Given the description of an element on the screen output the (x, y) to click on. 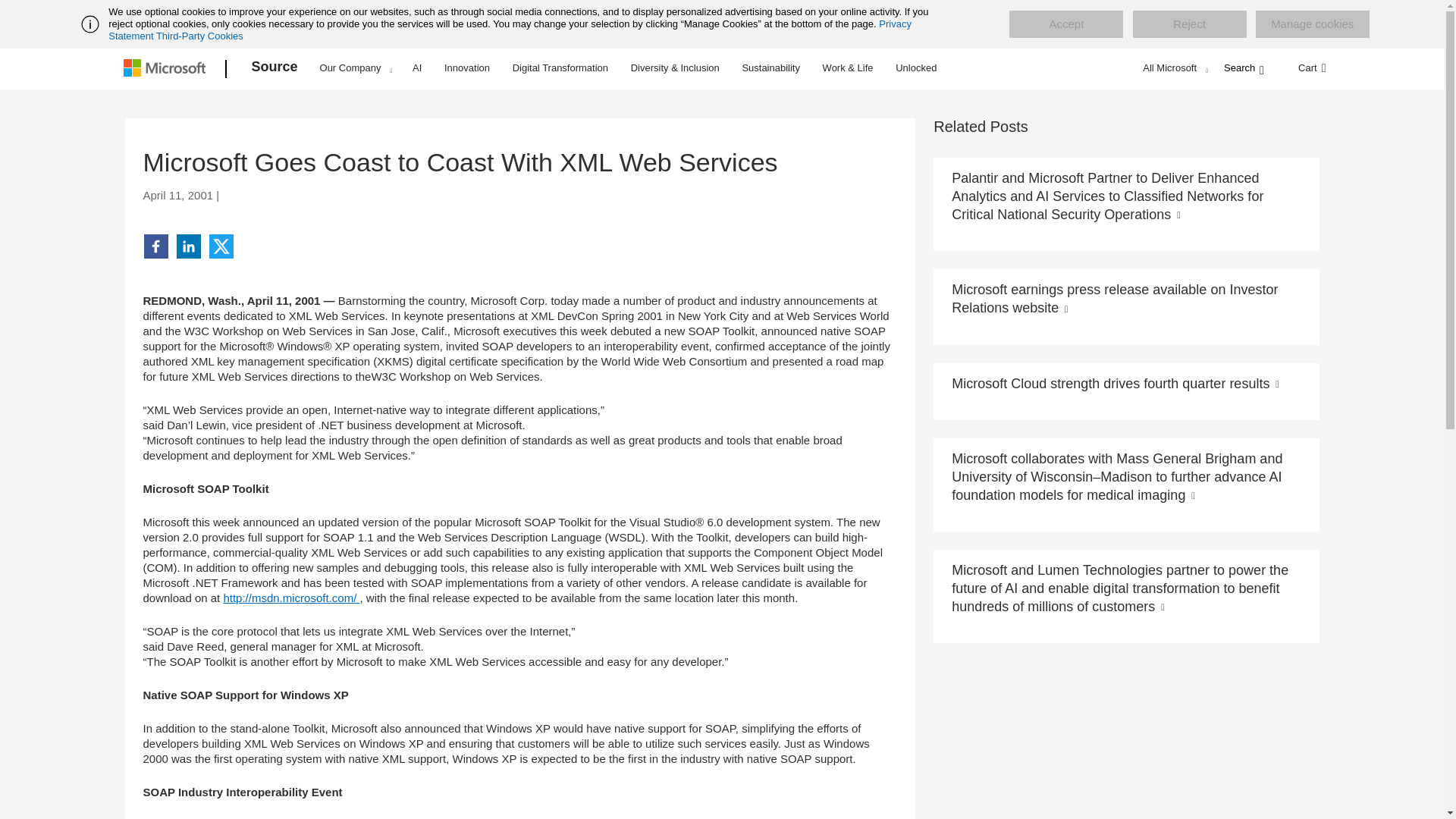
All Microsoft (1173, 67)
Digital Transformation (559, 67)
Sustainability (770, 67)
Privacy Statement (509, 29)
Reject (1189, 23)
Third-Party Cookies (199, 35)
Innovation (467, 67)
Manage cookies (1312, 23)
Microsoft (167, 69)
Unlocked (915, 67)
